Given the description of an element on the screen output the (x, y) to click on. 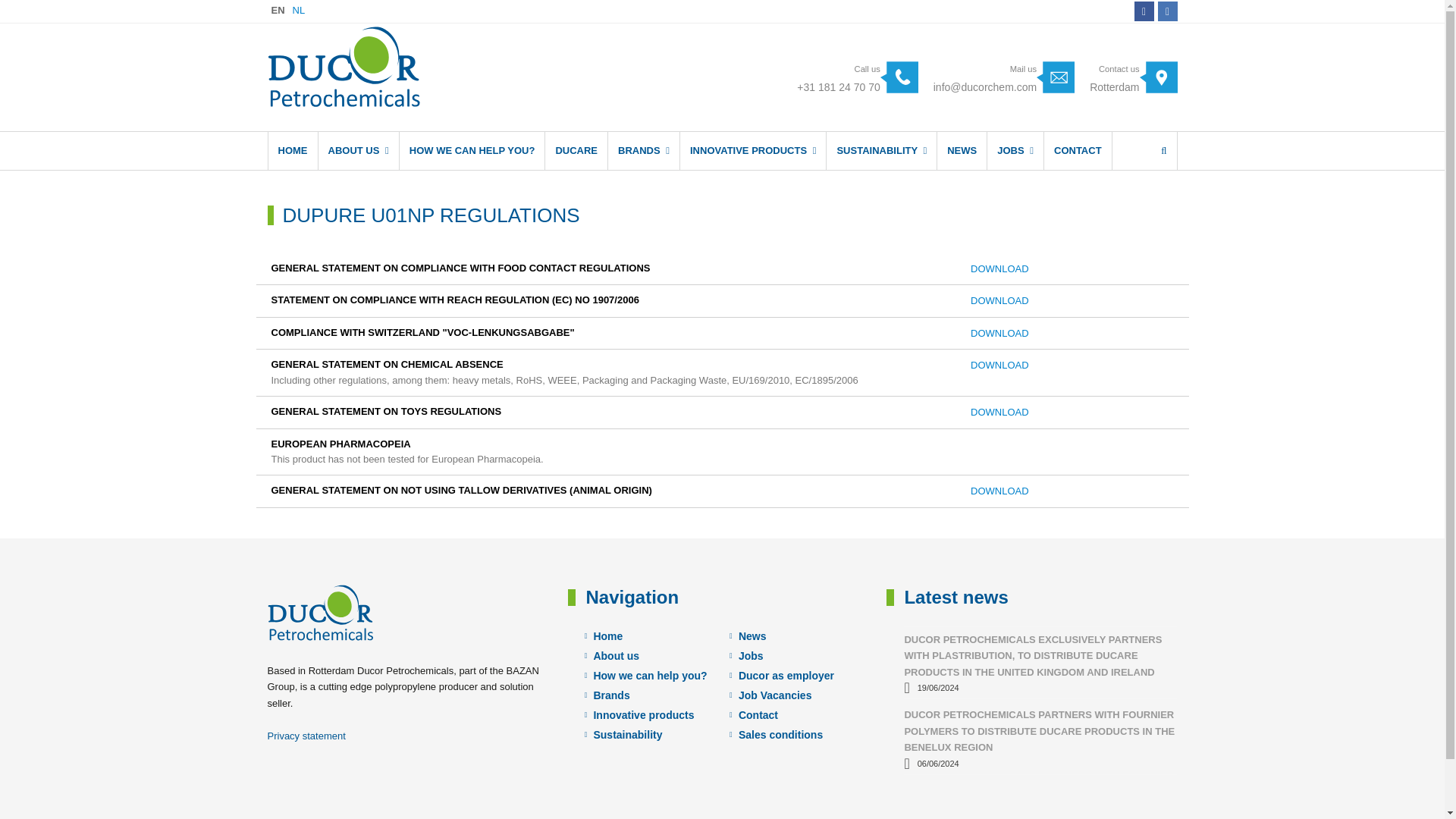
ABOUT US (358, 150)
DUCARE (575, 150)
LinkedIn (1166, 11)
BRANDS (643, 150)
Facebook (1144, 11)
Ducor Petrochemicals (343, 65)
HOME (292, 150)
INNOVATIVE PRODUCTS (752, 150)
NL (298, 9)
LinkedIn (1132, 76)
HOW WE CAN HELP YOU? (1166, 11)
Facebook (471, 150)
SUSTAINABILITY (1144, 11)
